Given the description of an element on the screen output the (x, y) to click on. 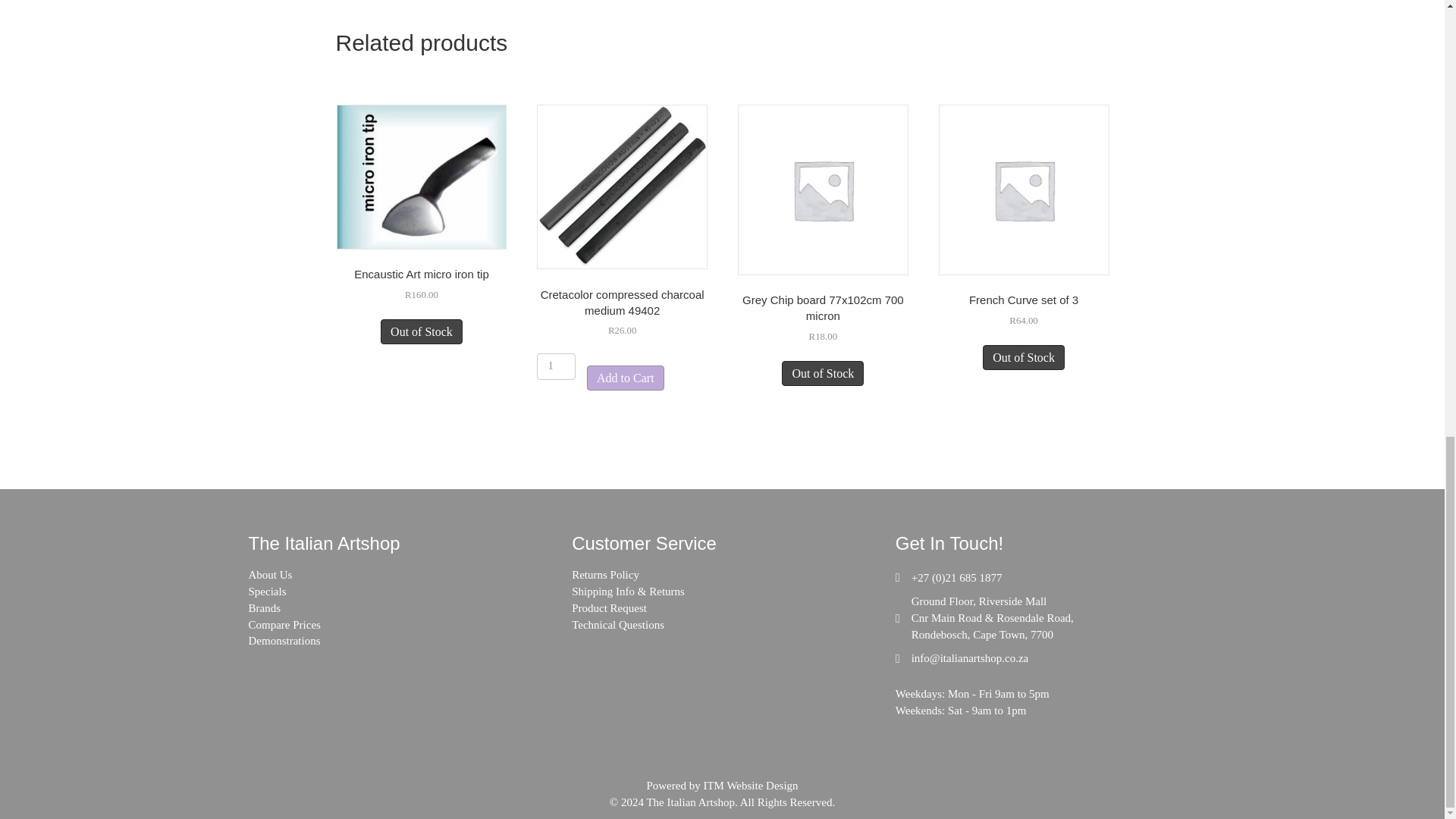
ITM Website Design (750, 785)
1 (556, 366)
